Given the description of an element on the screen output the (x, y) to click on. 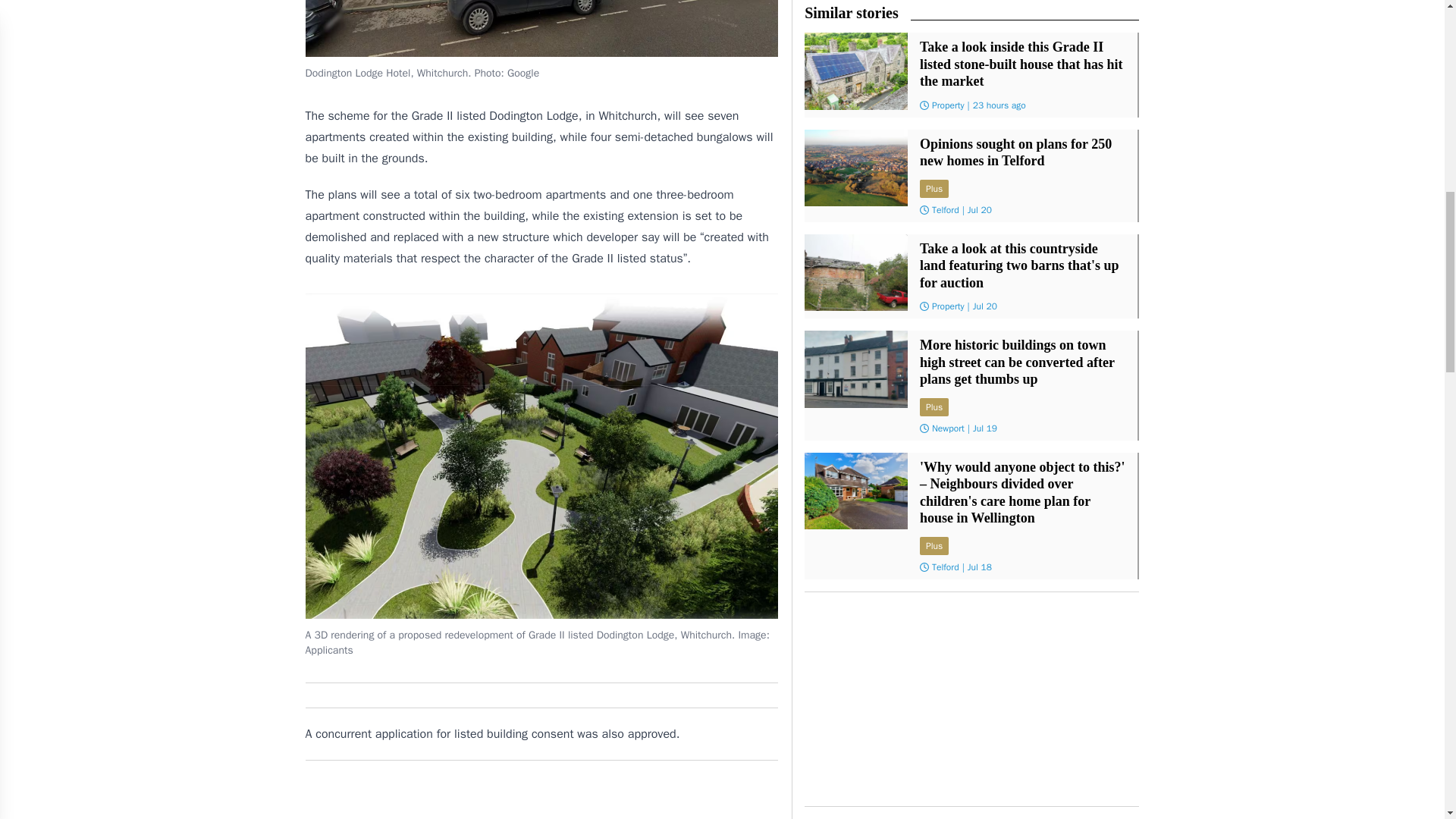
Telford (945, 567)
Telford (945, 209)
Property (947, 104)
Property (947, 306)
Newport (947, 427)
